Given the description of an element on the screen output the (x, y) to click on. 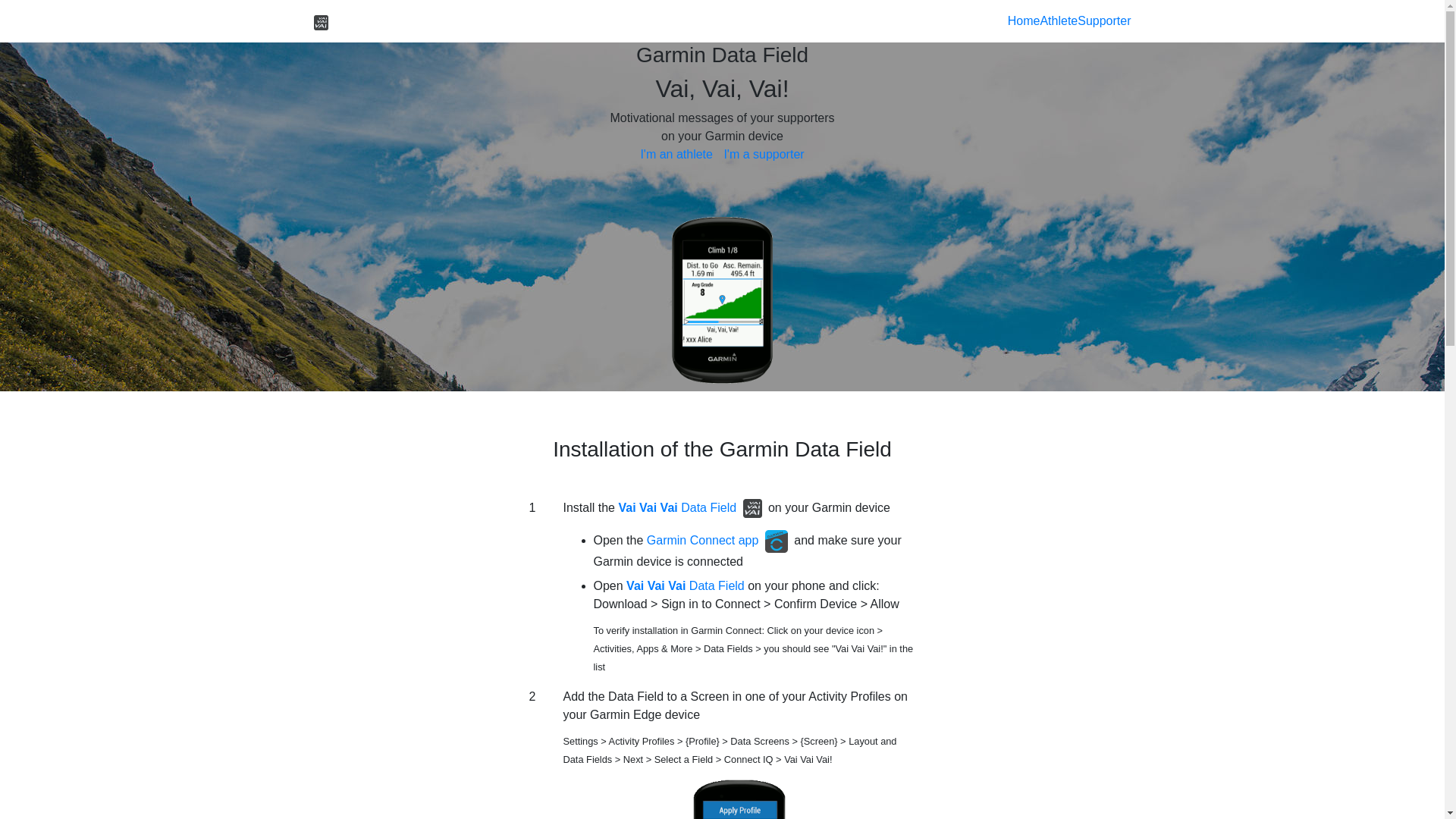
I'm an athlete Element type: text (676, 153)
Vai Vai Vai Data Field Element type: text (677, 507)
Home Element type: text (1023, 20)
I'm a supporter Element type: text (763, 153)
Athlete Element type: text (1058, 20)
vaivaivai.cc Element type: text (362, 21)
Garmin Connect app Element type: text (702, 539)
Vai Vai Vai Data Field Element type: text (686, 585)
Supporter Element type: text (1103, 20)
